Given the description of an element on the screen output the (x, y) to click on. 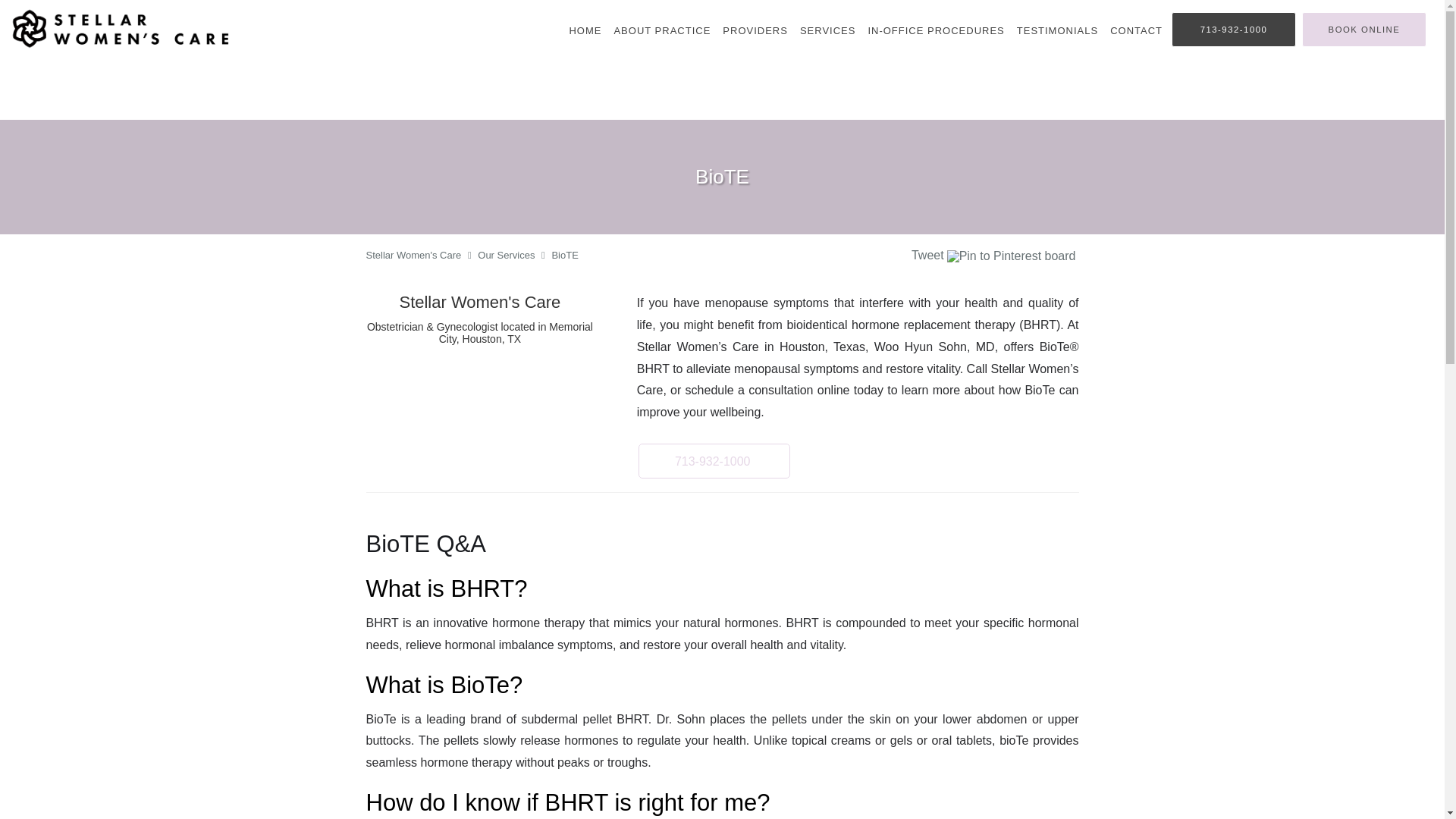
Facebook social button (852, 257)
CONTACT (1136, 30)
TESTIMONIALS (1056, 30)
PROVIDERS (754, 30)
713-932-1000 (1233, 29)
BOOK ONLINE (1363, 29)
IN-OFFICE PROCEDURES (935, 30)
ABOUT PRACTICE (661, 30)
Skip to main content (74, 7)
SERVICES (827, 30)
